Given the description of an element on the screen output the (x, y) to click on. 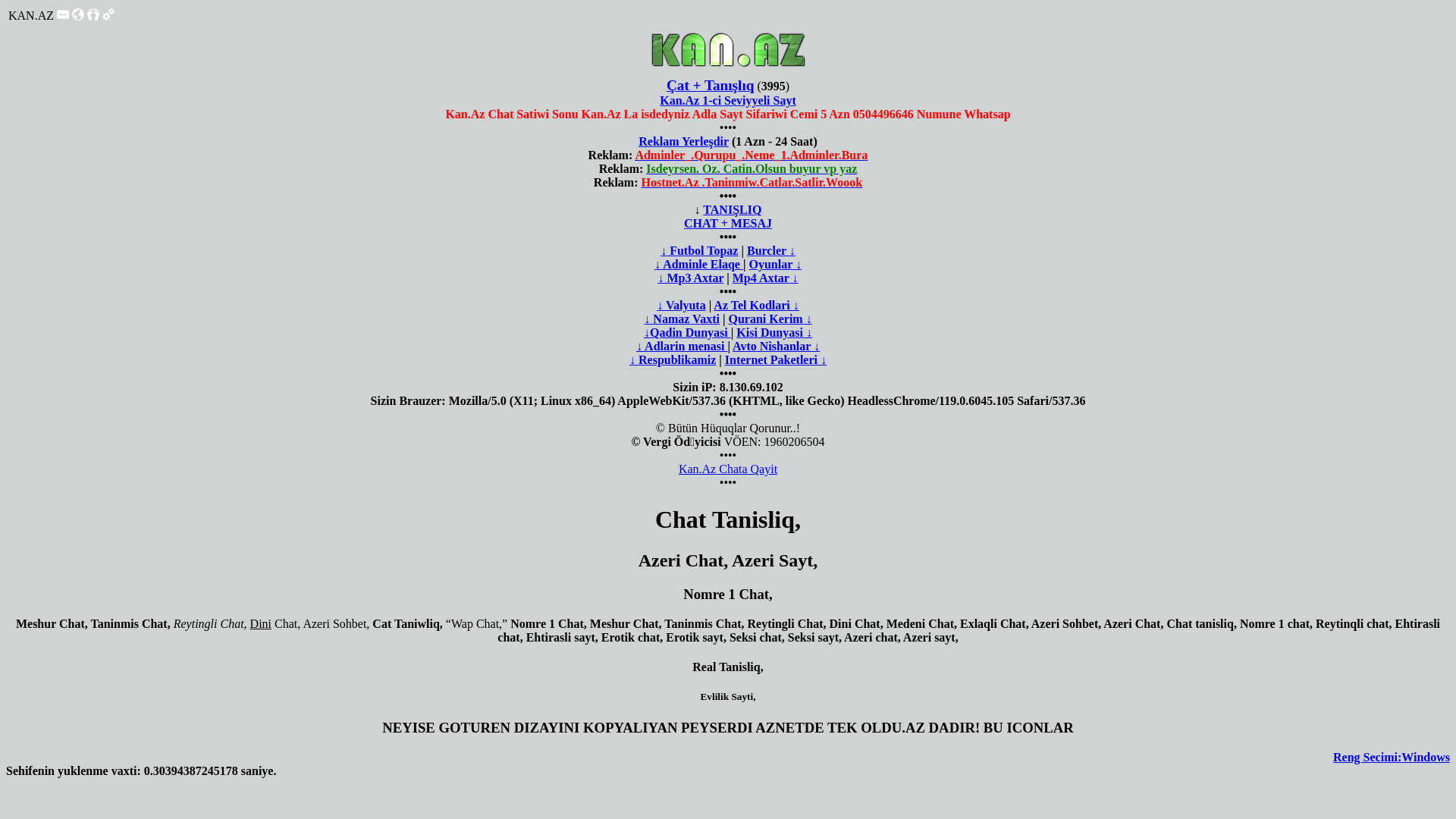
Isdeyrsen. Oz. Catin.Olsun buyur vp yaz Element type: text (751, 168)
Mesajlar Element type: hover (62, 14)
CHAT + MESAJ Element type: text (727, 222)
Mesajlar Element type: hover (62, 15)
Kan.Az 1-ci Seviyyeli Sayt Element type: text (727, 100)
Qonaqlar Element type: hover (93, 14)
Reng Secimi:Windows Element type: text (1391, 756)
Kan.Az Chata Qayit Element type: text (727, 468)
Hostnet.Az .Taninmiw.Catlar.Satlir.Woook Element type: text (751, 181)
Adminler_.Qurupu_.Neme_1.Adminler.Bura Element type: text (750, 154)
Qonaqlar Element type: hover (93, 15)
